Given the description of an element on the screen output the (x, y) to click on. 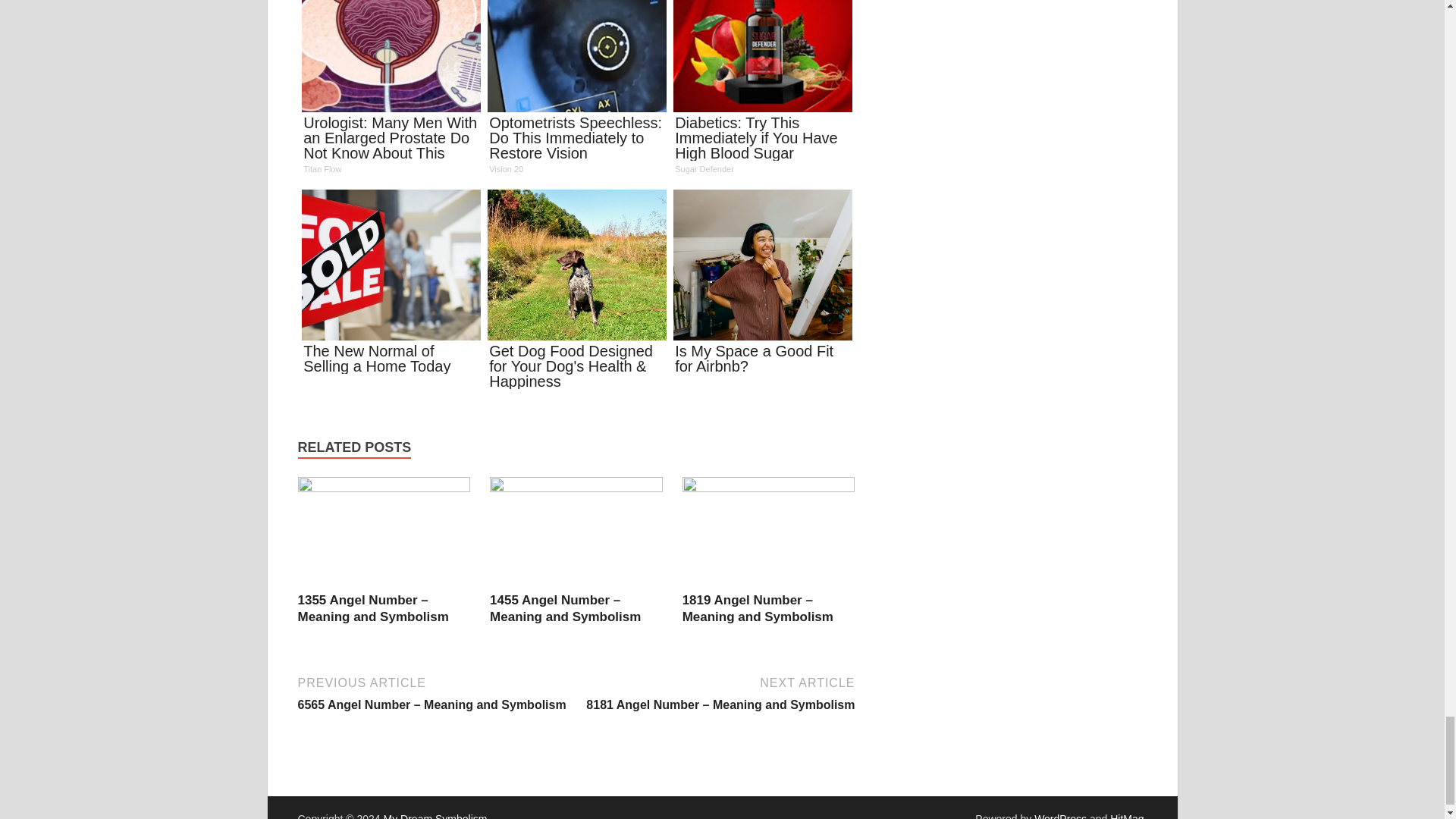
Is My Space a Good Fit for Airbnb? (761, 286)
The New Normal of Selling a Home Today (390, 286)
The New Normal of Selling a Home Today (390, 286)
